Given the description of an element on the screen output the (x, y) to click on. 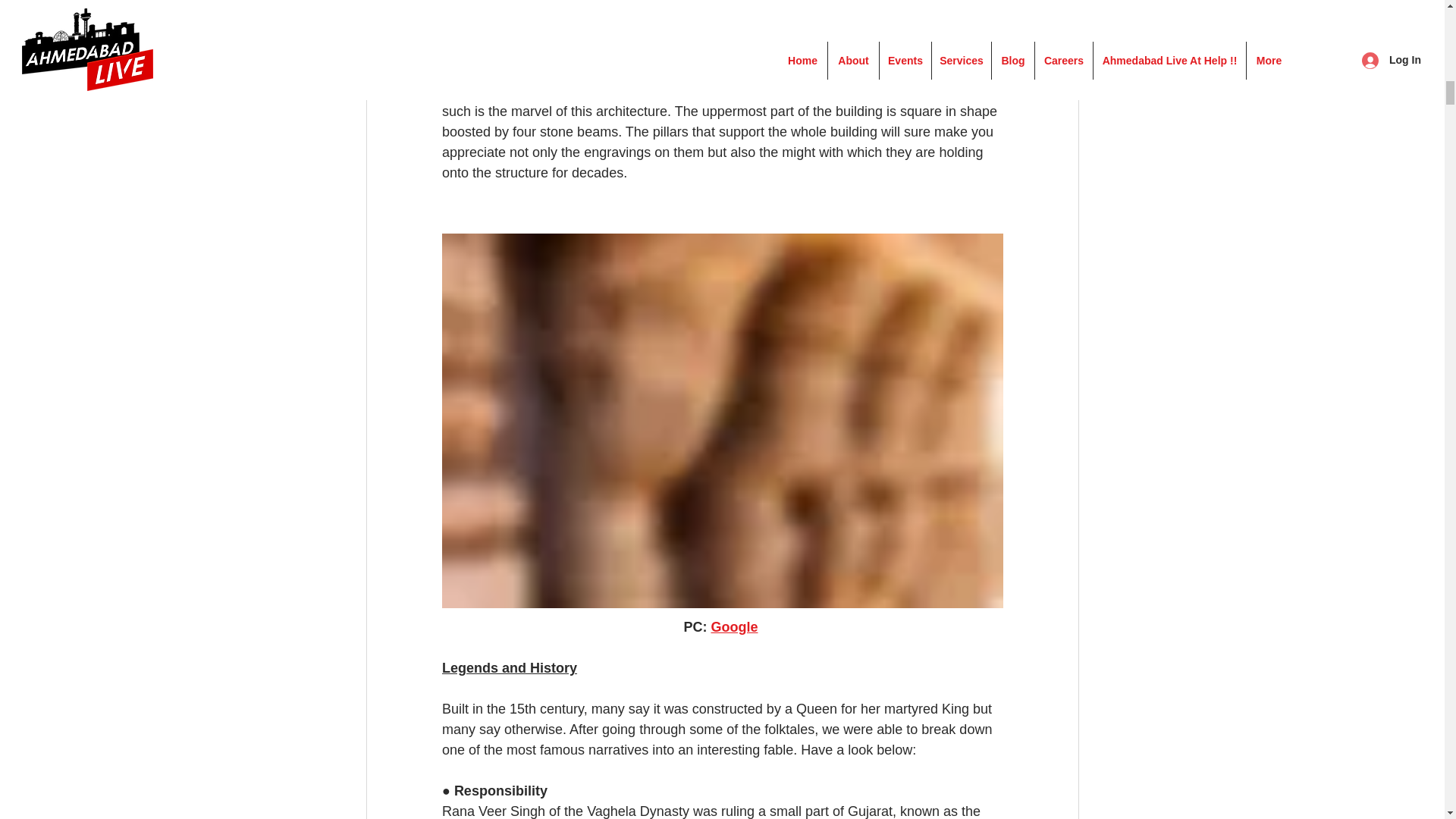
Google (733, 626)
